Given the description of an element on the screen output the (x, y) to click on. 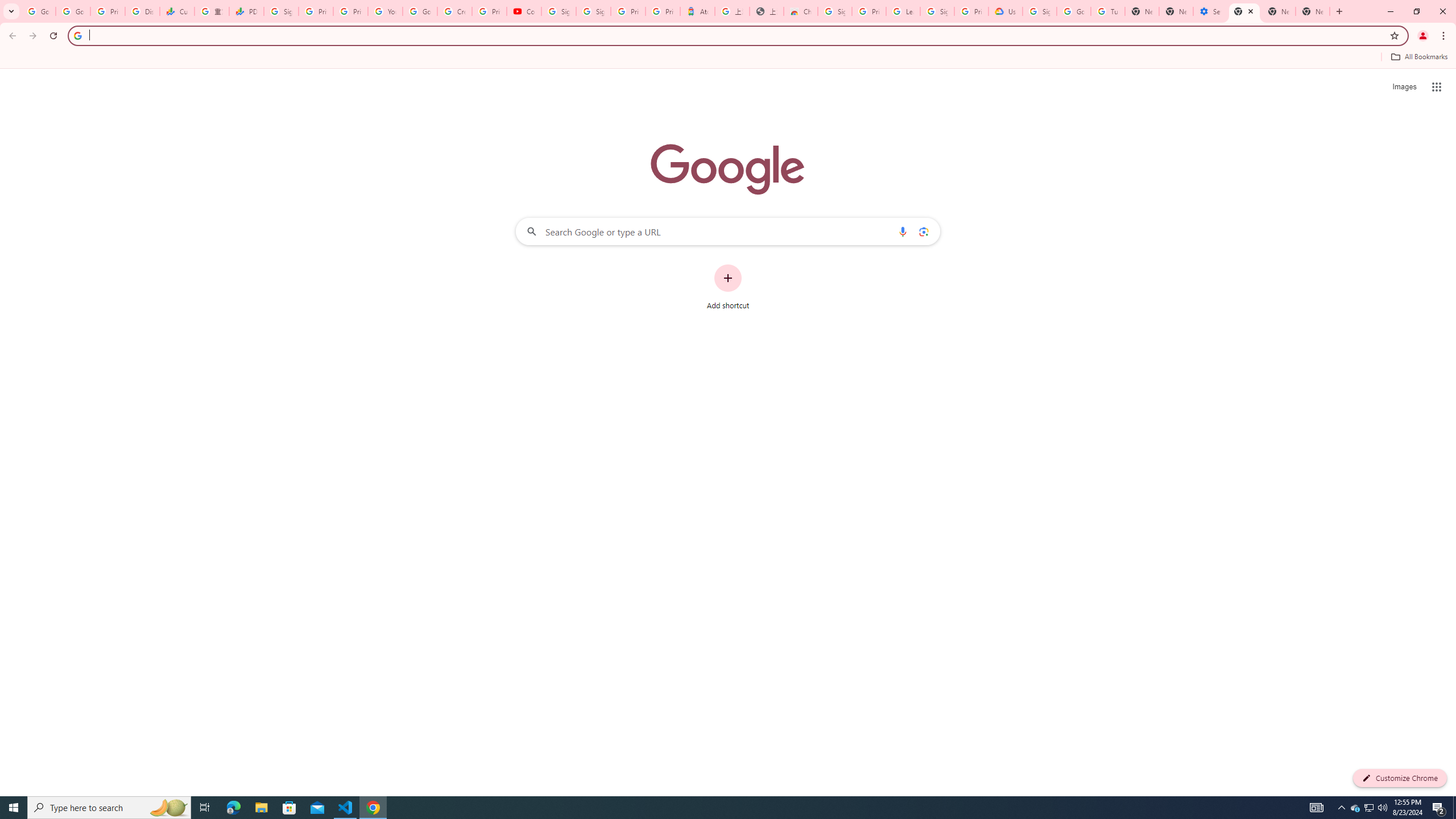
Sign in - Google Accounts (834, 11)
Settings - System (1209, 11)
Privacy Checkup (349, 11)
PDD Holdings Inc - ADR (PDD) Price & News - Google Finance (246, 11)
